Given the description of an element on the screen output the (x, y) to click on. 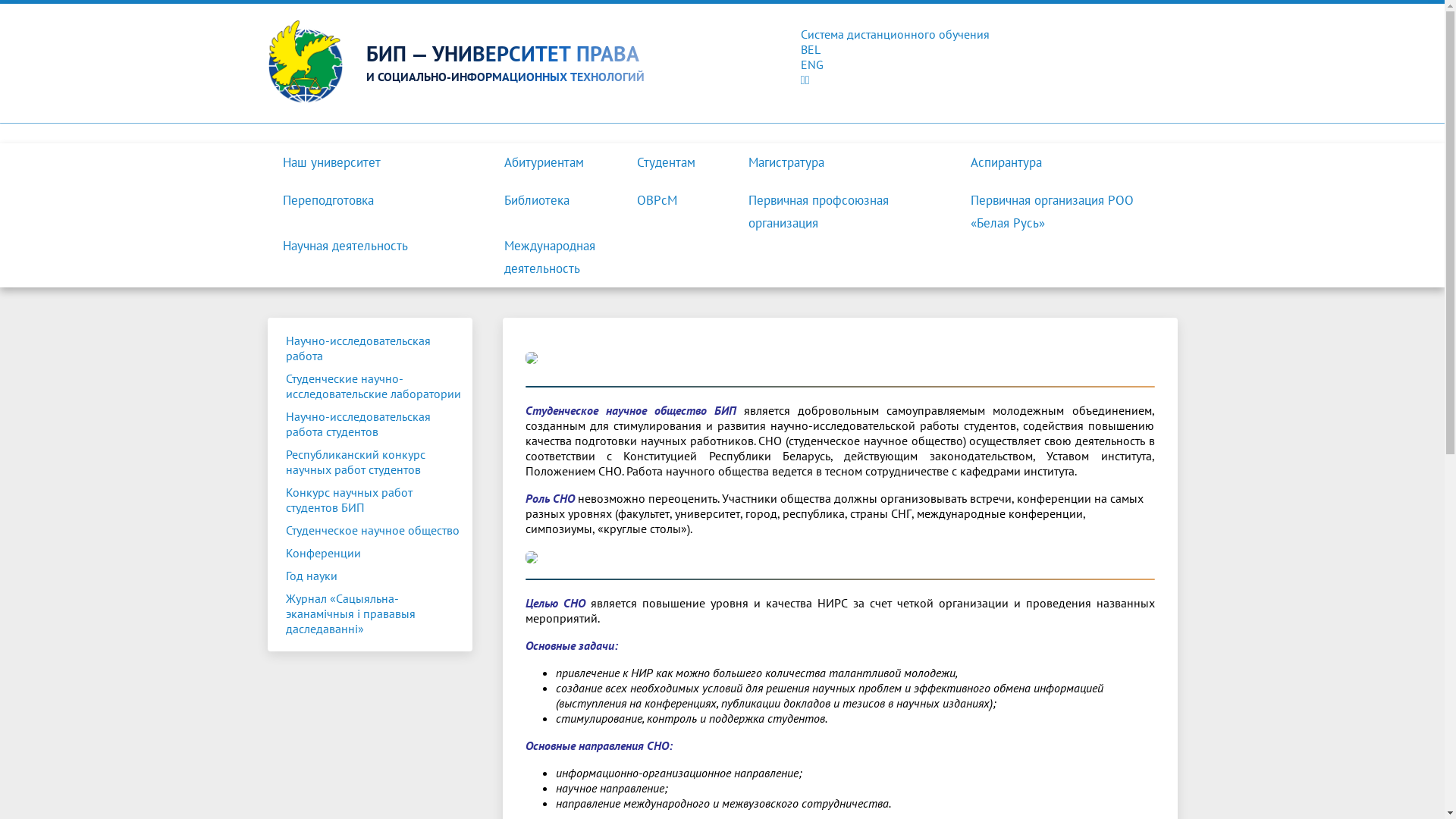
ENG Element type: text (721, 64)
BEL Element type: text (721, 48)
